Given the description of an element on the screen output the (x, y) to click on. 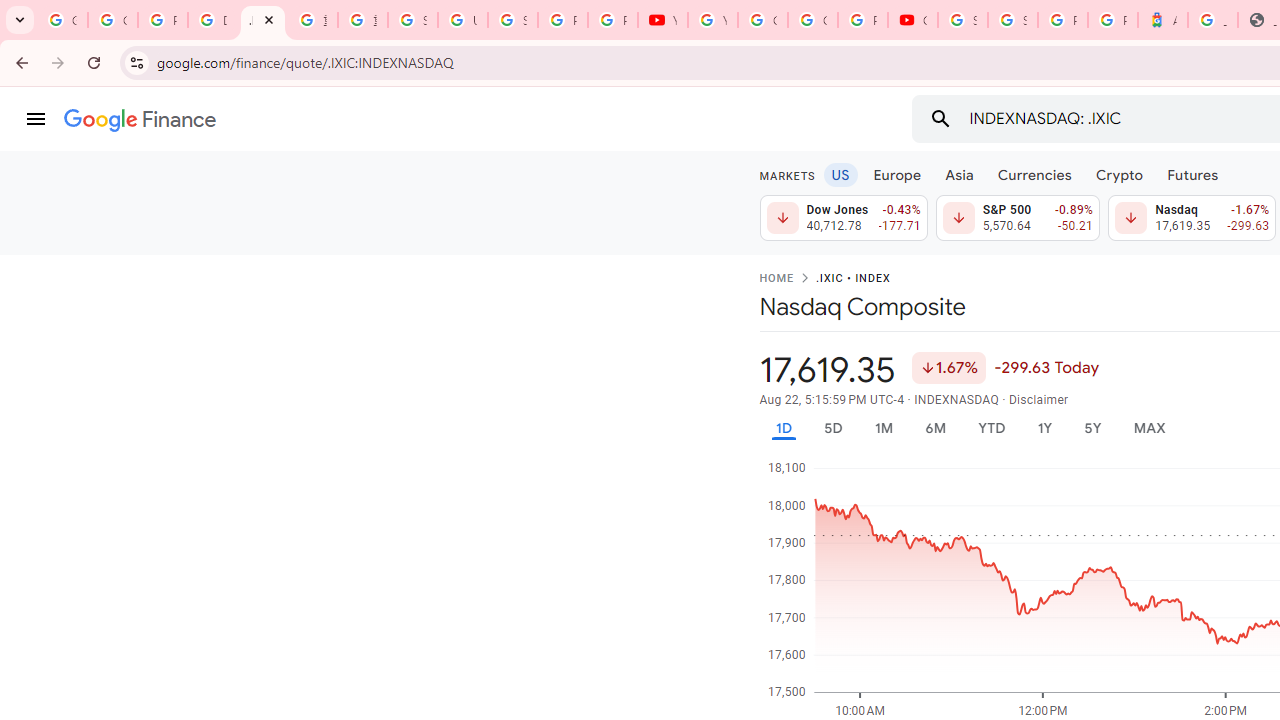
Europe (897, 174)
Main menu (35, 119)
YouTube (712, 20)
Atour Hotel - Google hotels (1162, 20)
YouTube (662, 20)
Content Creator Programs & Opportunities - YouTube Creators (913, 20)
Finance (140, 120)
1Y (1044, 427)
Search (939, 118)
